Given the description of an element on the screen output the (x, y) to click on. 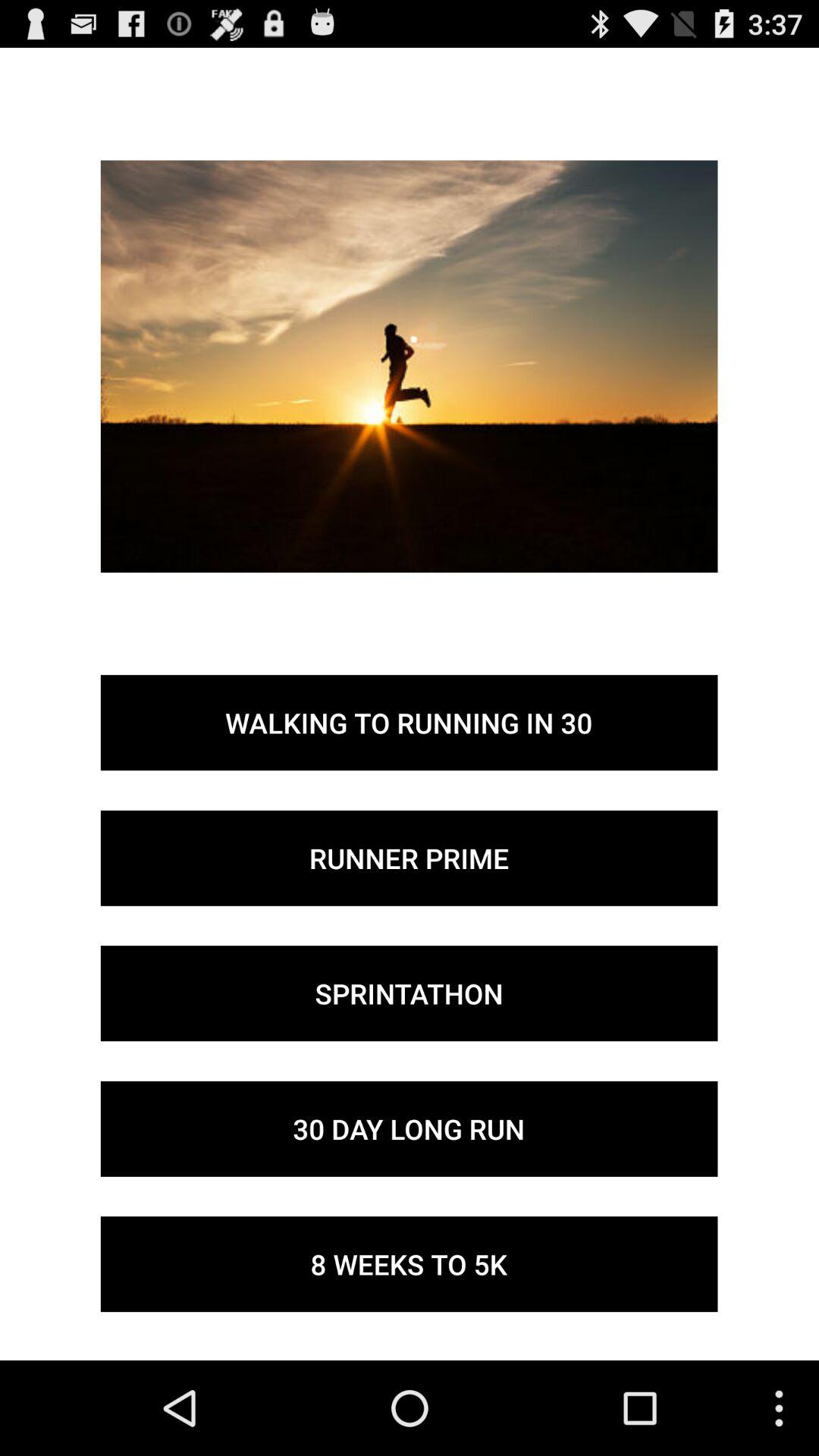
swipe to the 8 weeks to button (408, 1264)
